Given the description of an element on the screen output the (x, y) to click on. 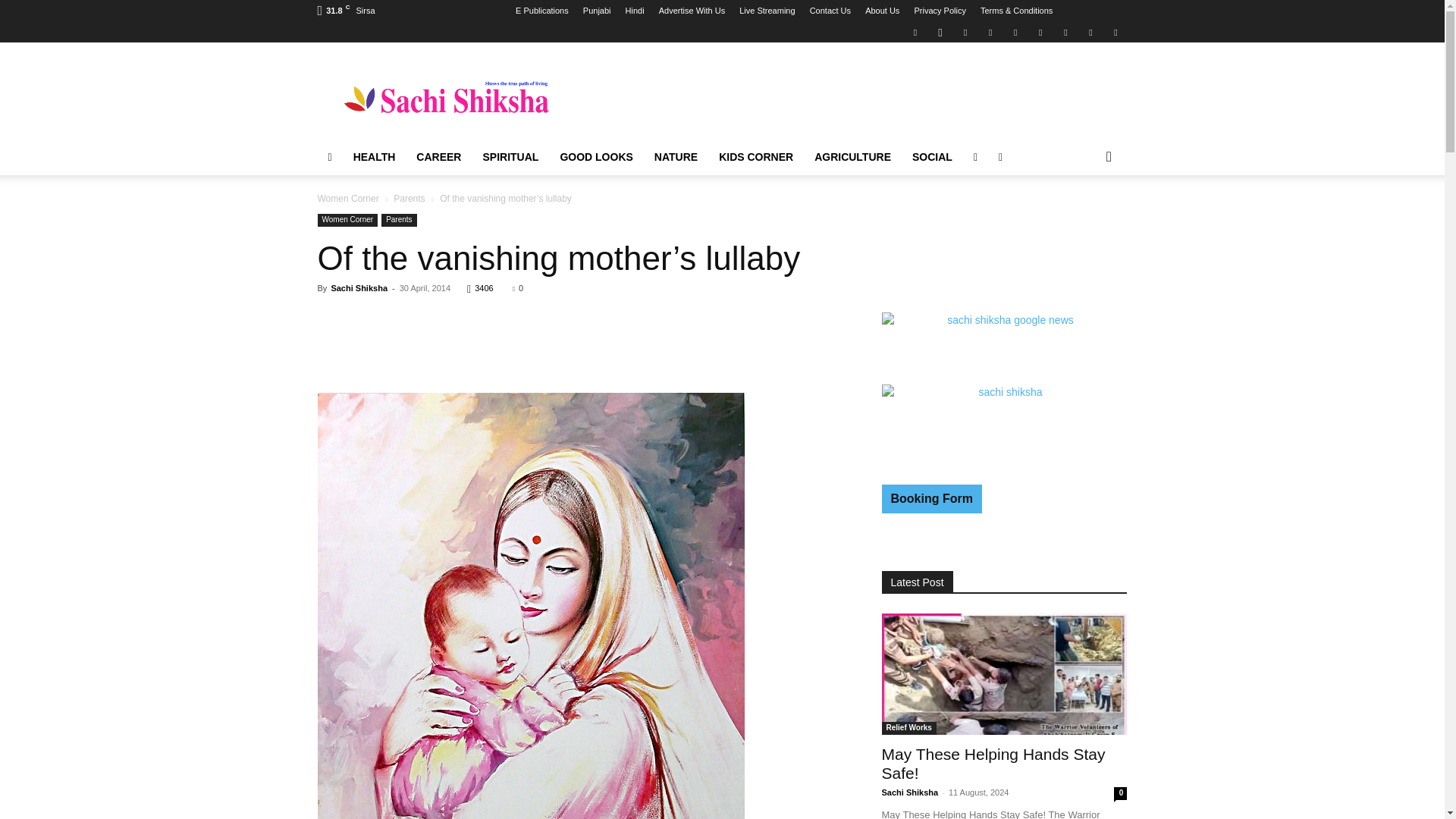
Linkedin (964, 31)
Facebook (915, 31)
Instagram (940, 31)
